Given the description of an element on the screen output the (x, y) to click on. 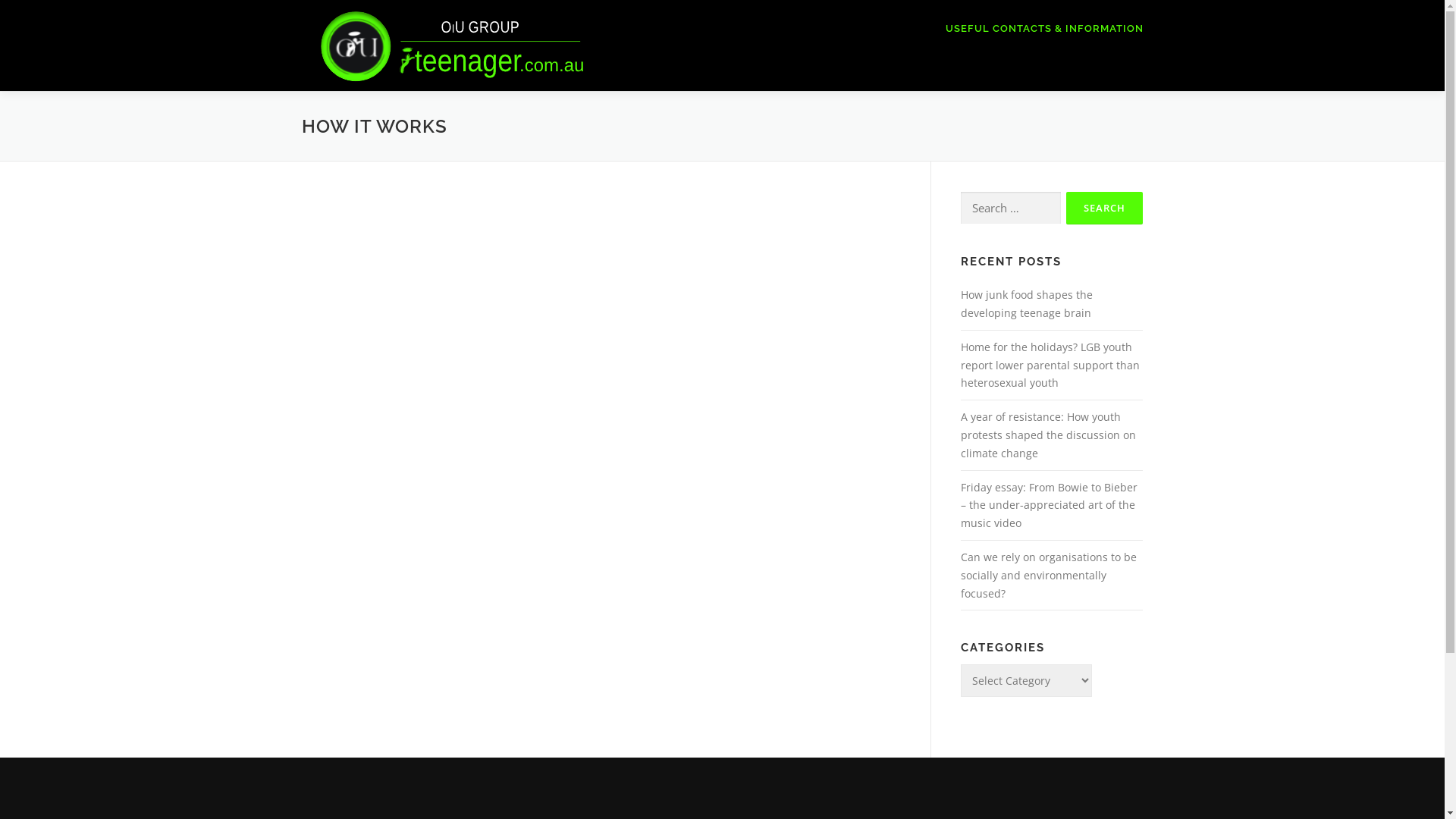
USEFUL CONTACTS & INFORMATION Element type: text (1037, 28)
How junk food shapes the developing teenage brain Element type: text (1026, 303)
Search Element type: text (1104, 207)
